Given the description of an element on the screen output the (x, y) to click on. 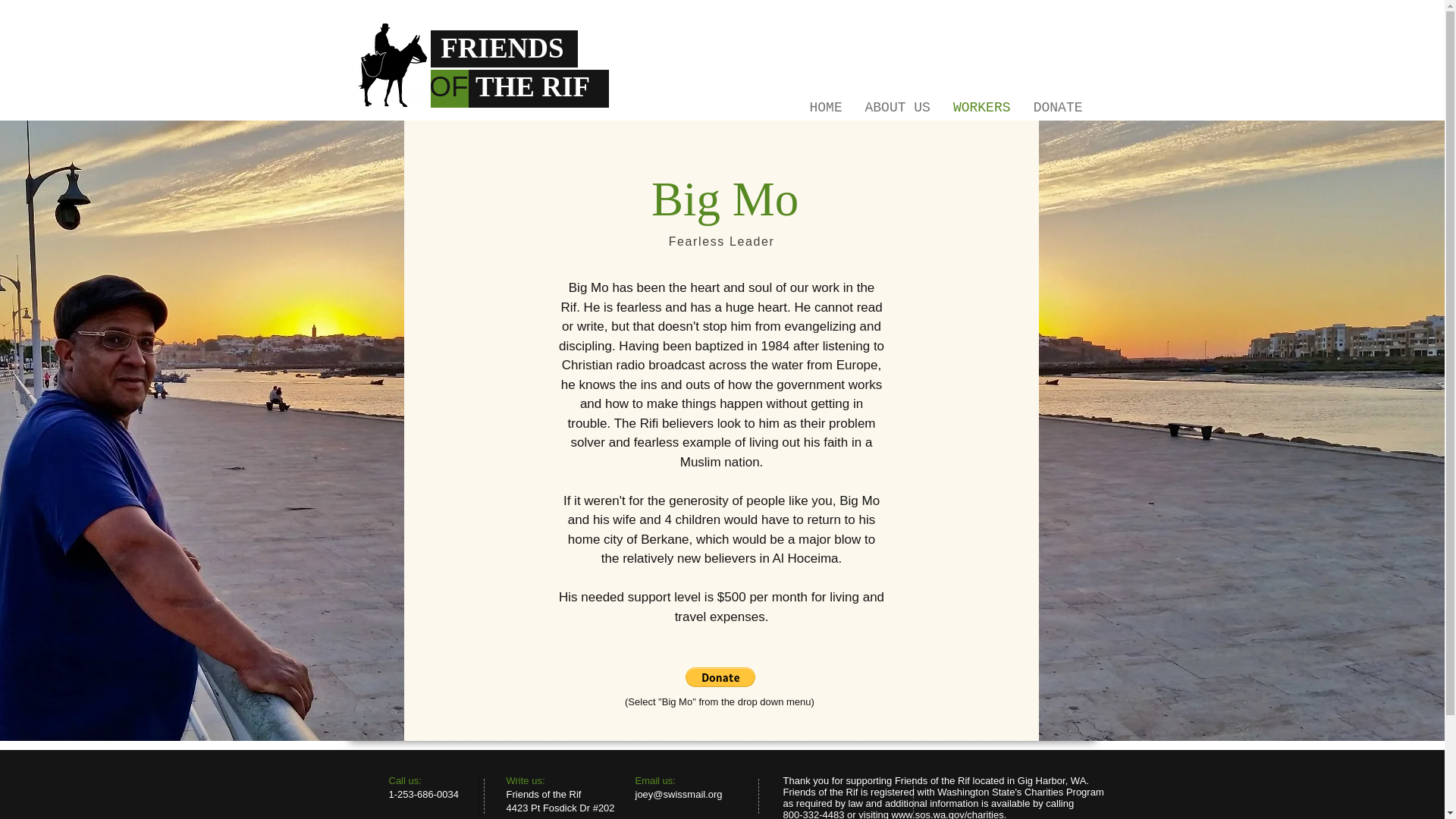
DONATE (1058, 104)
ABOUT US (897, 104)
HOME (825, 104)
WORKERS (982, 104)
